Given the description of an element on the screen output the (x, y) to click on. 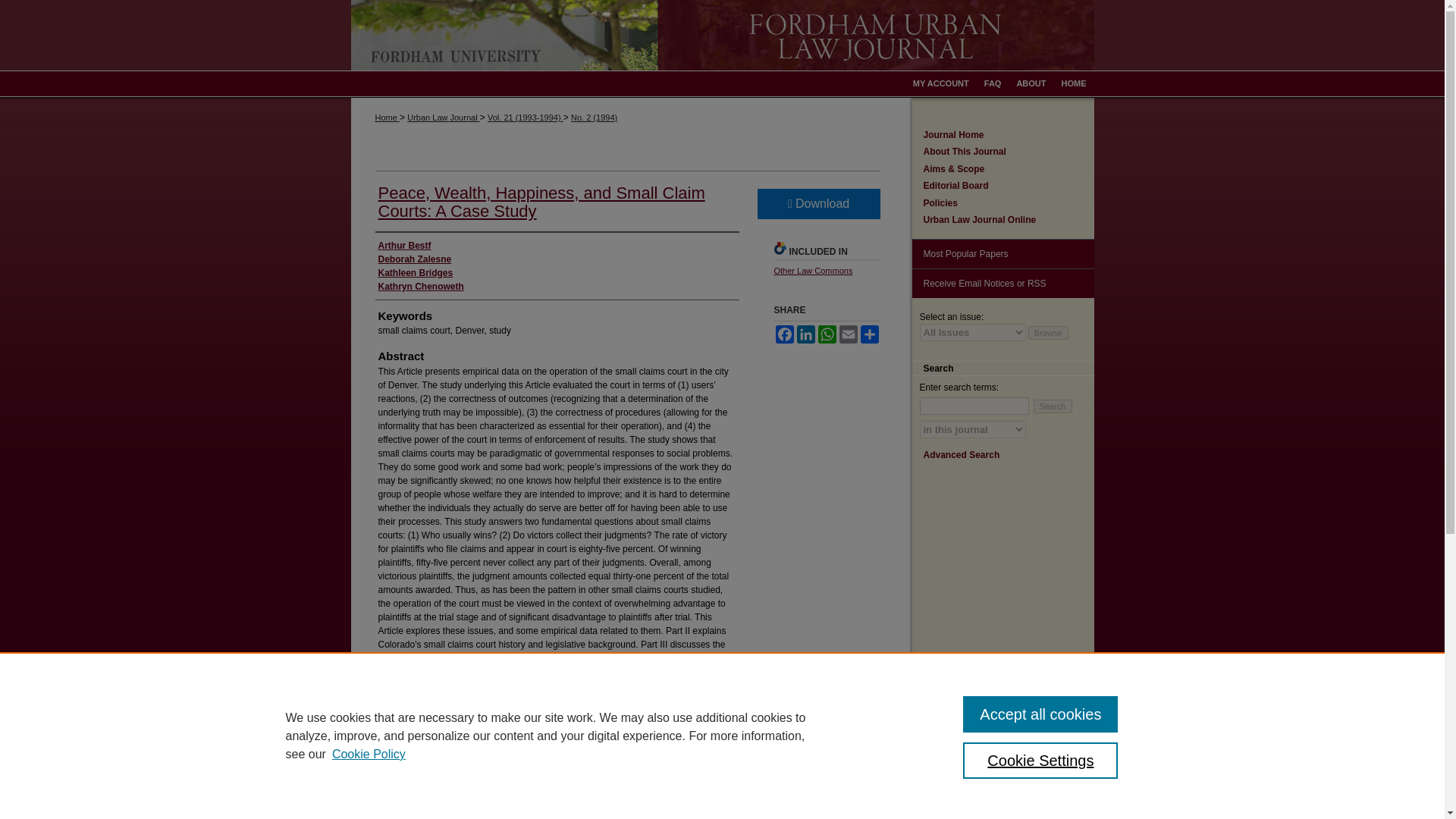
Email (848, 334)
Editorial Board (1008, 185)
About (1030, 83)
Urban Law Journal Online (1008, 219)
Browse (1047, 332)
MY ACCOUNT (940, 83)
Kathryn Chenoweth (420, 286)
FAQ (992, 83)
Other Law Commons (812, 270)
Other Law Commons (812, 270)
Browse (1047, 332)
Urban Law Journal (443, 117)
Fordham Urban Law Journal (721, 35)
Home (1073, 83)
